Given the description of an element on the screen output the (x, y) to click on. 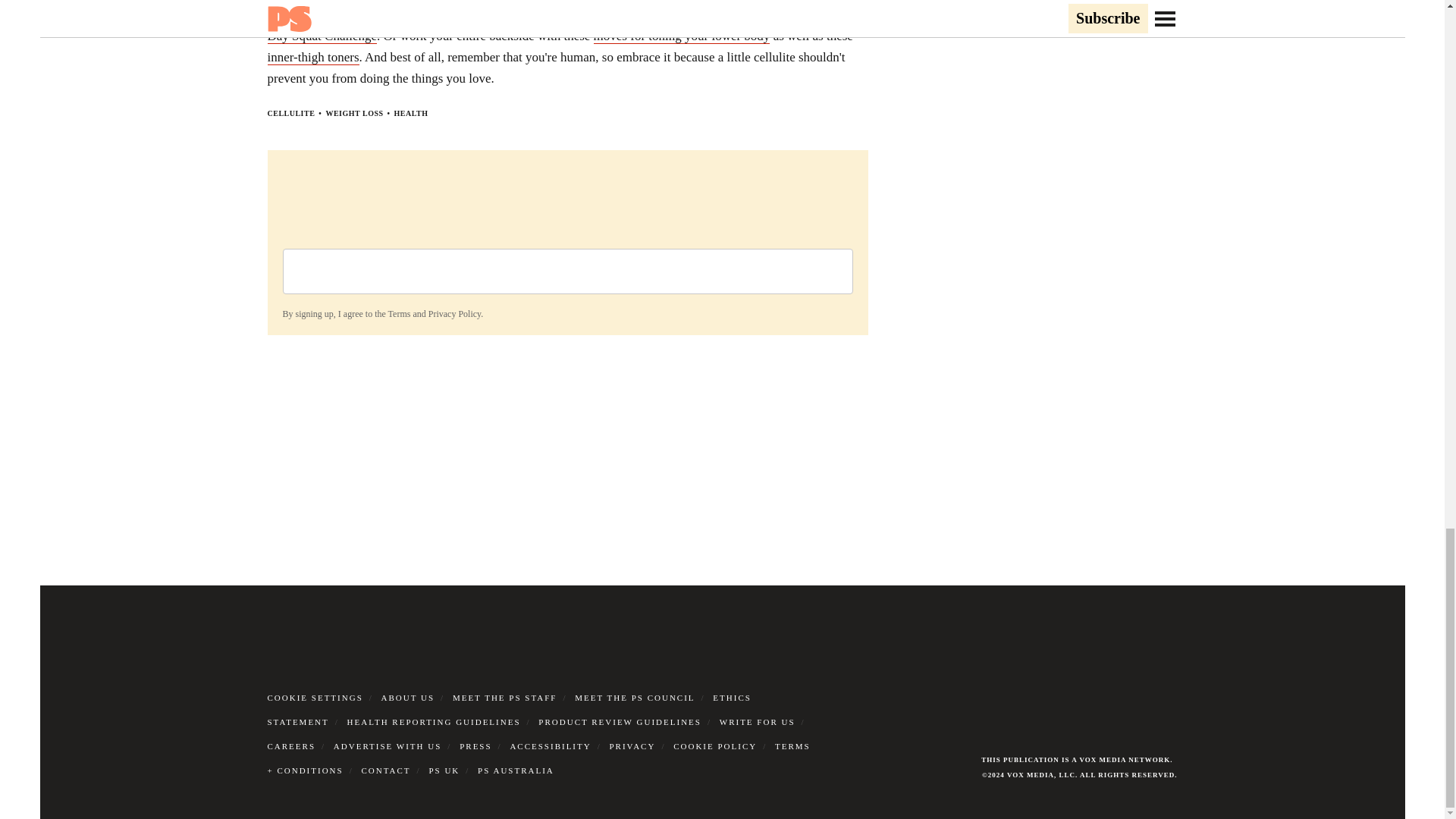
WEIGHT LOSS (353, 112)
ETHICS STATEMENT (508, 709)
PRODUCT REVIEW GUIDELINES (619, 721)
moves for toning your lower body (682, 36)
CELLULITE (290, 112)
CAREERS (290, 746)
Privacy Policy. (455, 313)
Terms (399, 313)
HEALTH REPORTING GUIDELINES (434, 721)
MEET THE PS STAFF (504, 697)
ABOUT US (408, 697)
ADVERTISE WITH US (387, 746)
PRESS (476, 746)
WRITE FOR US (756, 721)
HEALTH (411, 112)
